Given the description of an element on the screen output the (x, y) to click on. 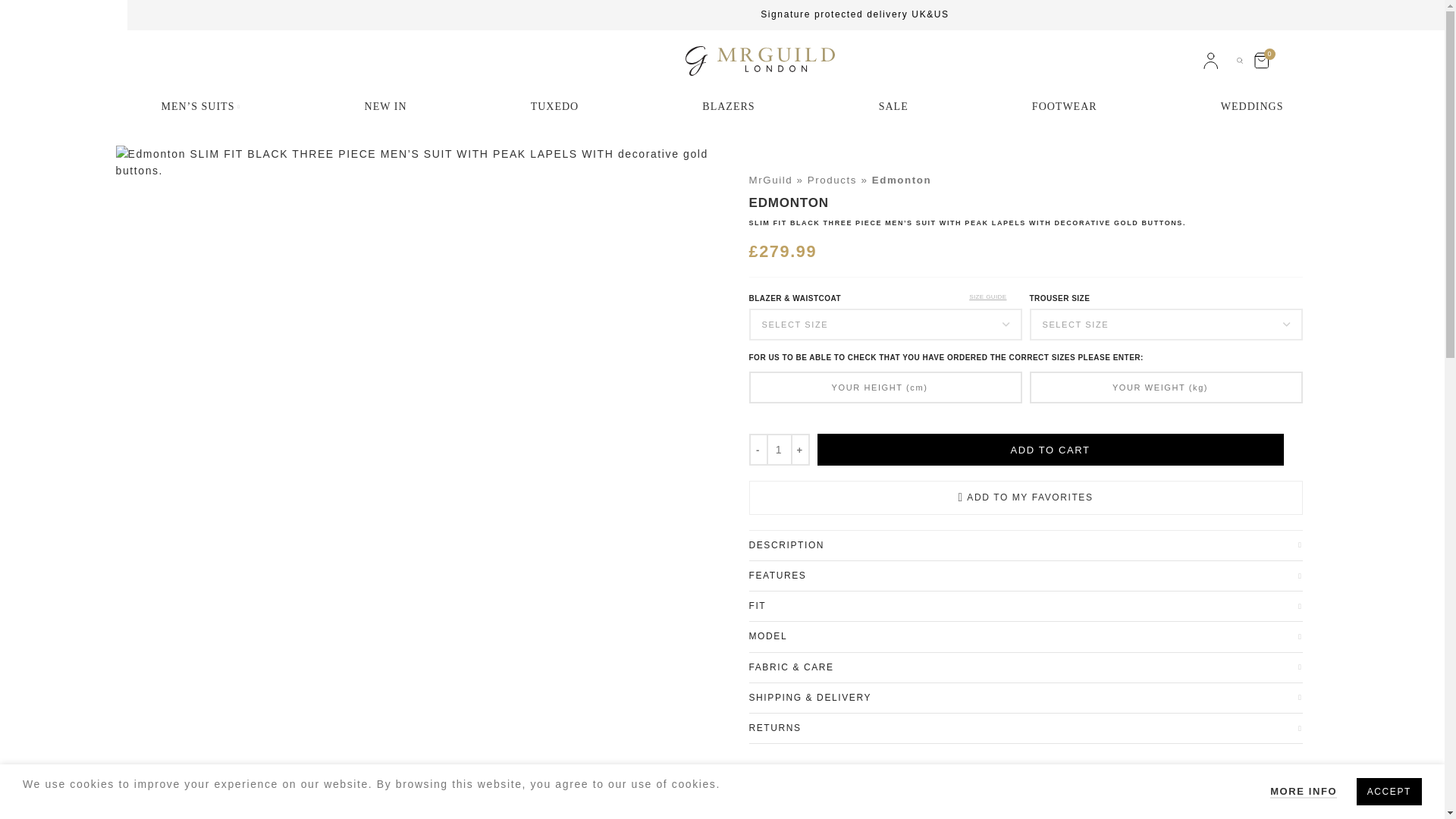
0 (1261, 60)
Edmonton (1378, 154)
Edmonton (764, 154)
Edmonton (418, 162)
Shopping cart (1261, 60)
My account (1210, 60)
